Given the description of an element on the screen output the (x, y) to click on. 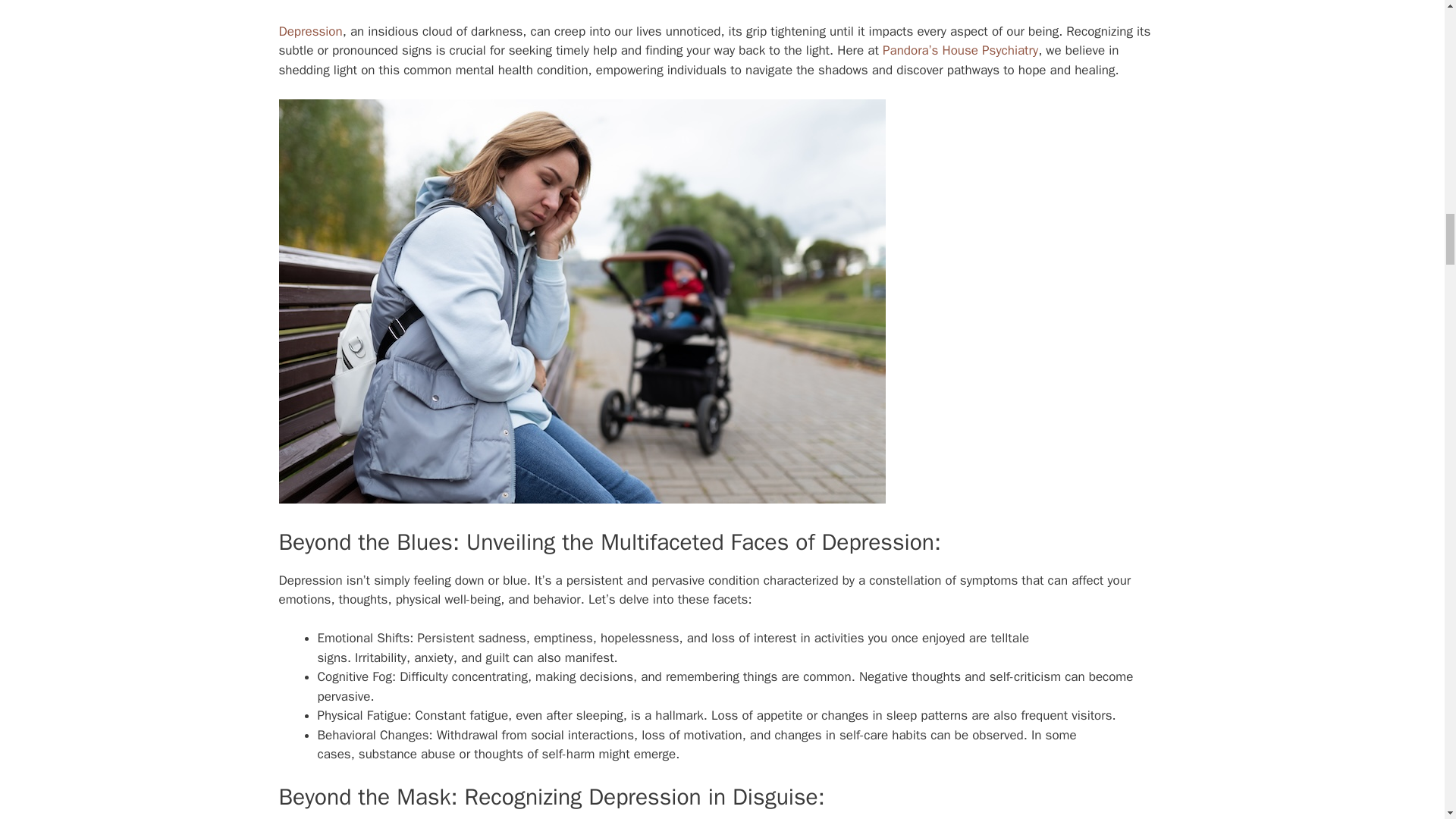
Depression (310, 31)
